Given the description of an element on the screen output the (x, y) to click on. 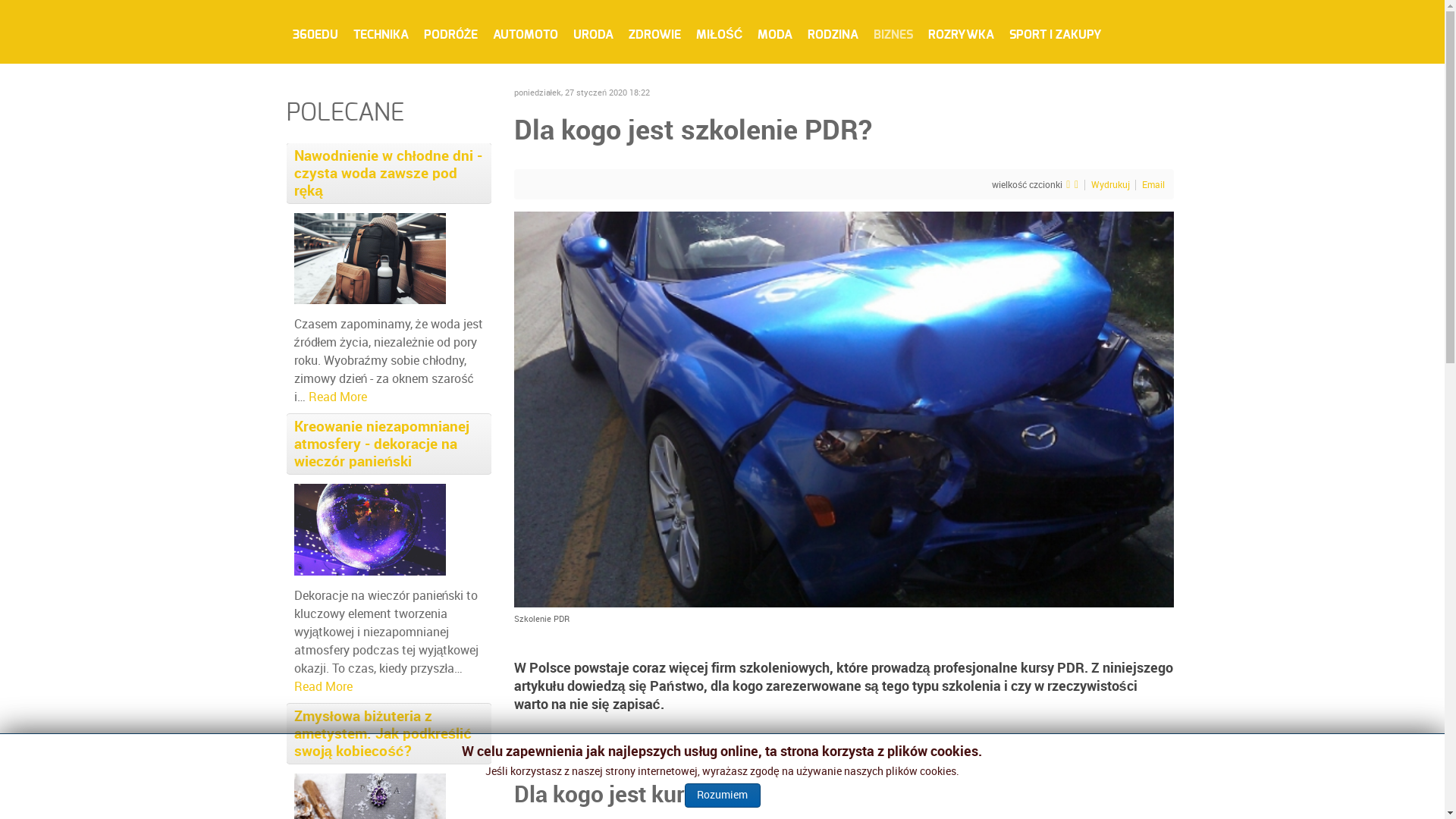
Email Element type: text (1153, 183)
360EDU Element type: text (315, 34)
SPORT I ZAKUPY Element type: text (1055, 34)
RODZINA Element type: text (832, 34)
ROZRYWKA Element type: text (961, 34)
MODA Element type: text (774, 34)
BIZNES Element type: text (893, 34)
URODA Element type: text (593, 34)
Read More Element type: text (323, 686)
AUTOMOTO Element type: text (525, 34)
Wydrukuj Element type: text (1110, 183)
TECHNIKA Element type: text (380, 34)
Read More Element type: text (336, 396)
ZDROWIE Element type: text (654, 34)
